Given the description of an element on the screen output the (x, y) to click on. 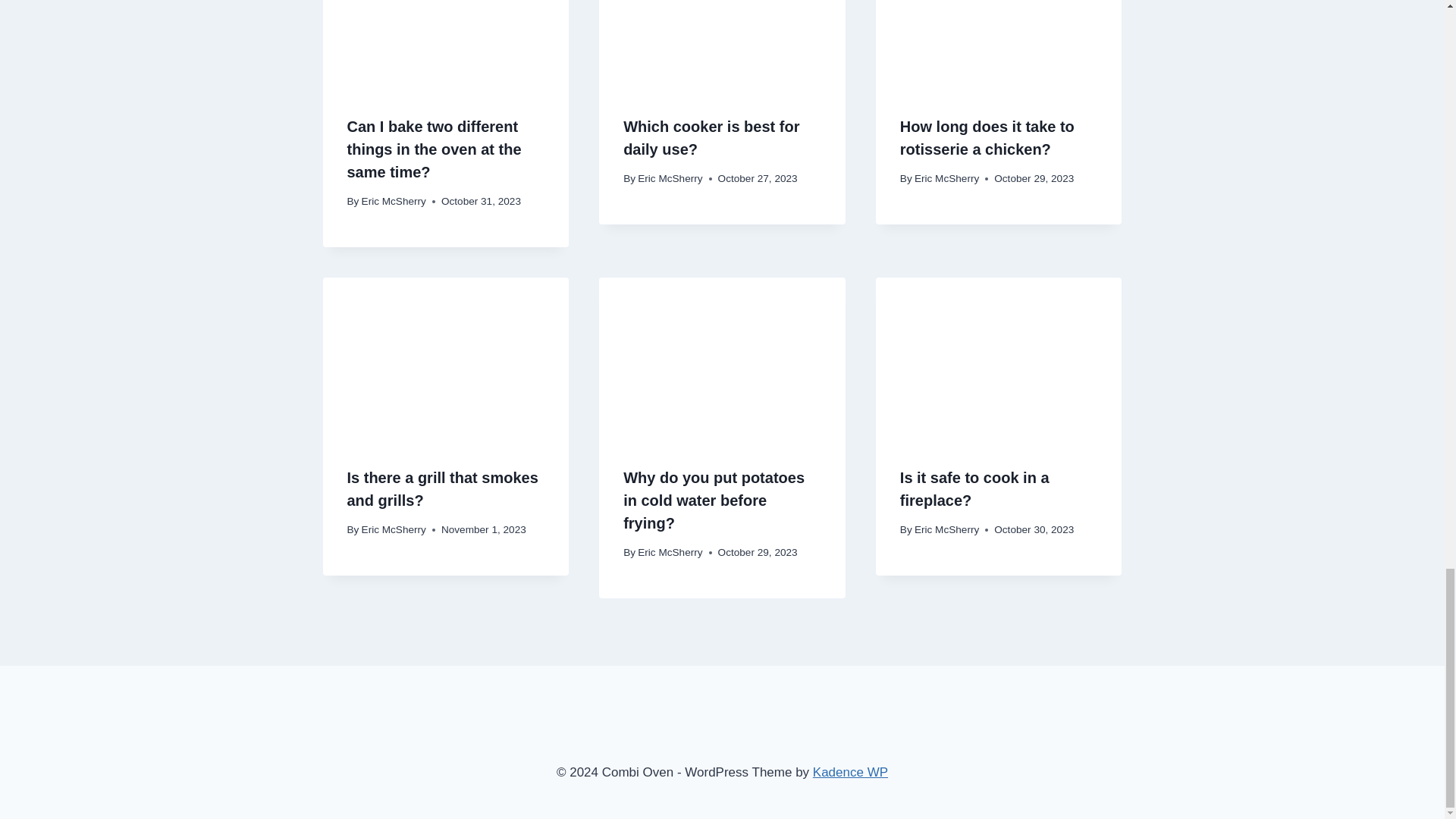
How long does it take to rotisserie a chicken? (986, 137)
Eric McSherry (946, 178)
Eric McSherry (393, 529)
Eric McSherry (393, 201)
Eric McSherry (669, 178)
Is there a grill that smokes and grills? (442, 488)
Which cooker is best for daily use? (711, 137)
